Given the description of an element on the screen output the (x, y) to click on. 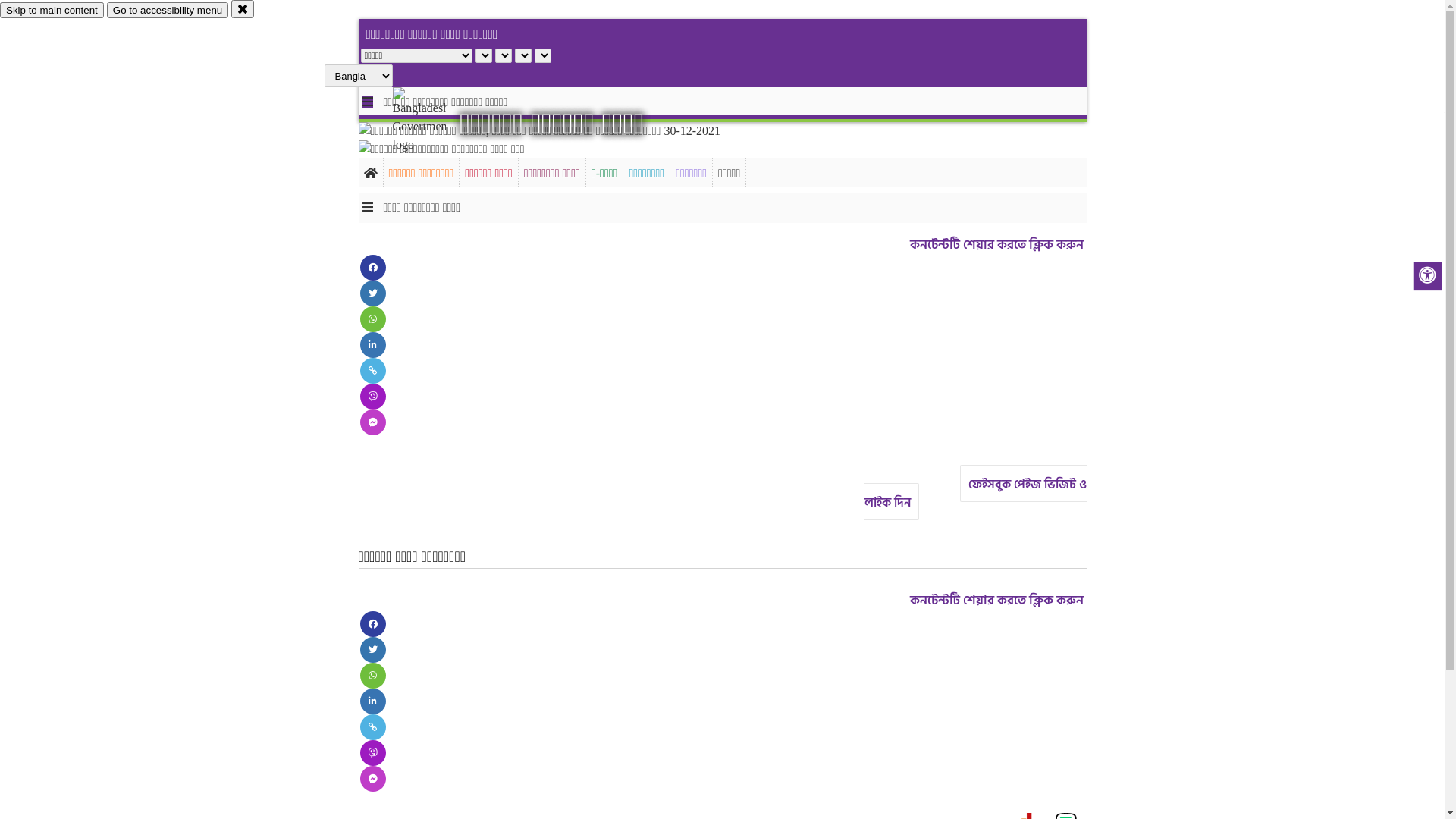
Go to accessibility menu Element type: text (167, 10)
close Element type: hover (242, 9)

                
             Element type: hover (431, 120)
Skip to main content Element type: text (51, 10)
